Given the description of an element on the screen output the (x, y) to click on. 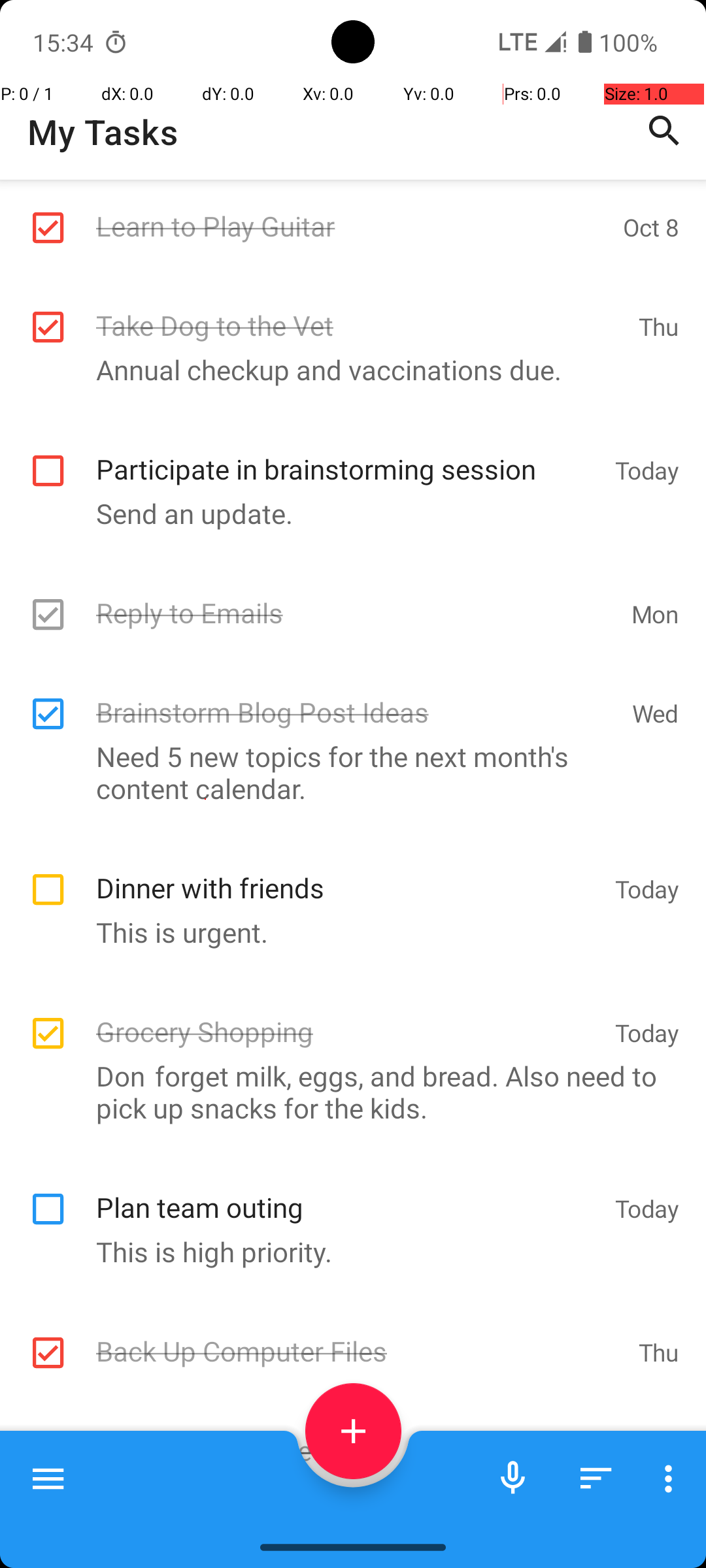
Participate in brainstorming session Element type: android.widget.TextView (348, 454)
Send an update. Element type: android.widget.TextView (346, 512)
Dinner with friends Element type: android.widget.TextView (348, 873)
This is urgent. Element type: android.widget.TextView (346, 931)
Plan team outing Element type: android.widget.TextView (348, 1192)
This is high priority. Element type: android.widget.TextView (346, 1251)
